Given the description of an element on the screen output the (x, y) to click on. 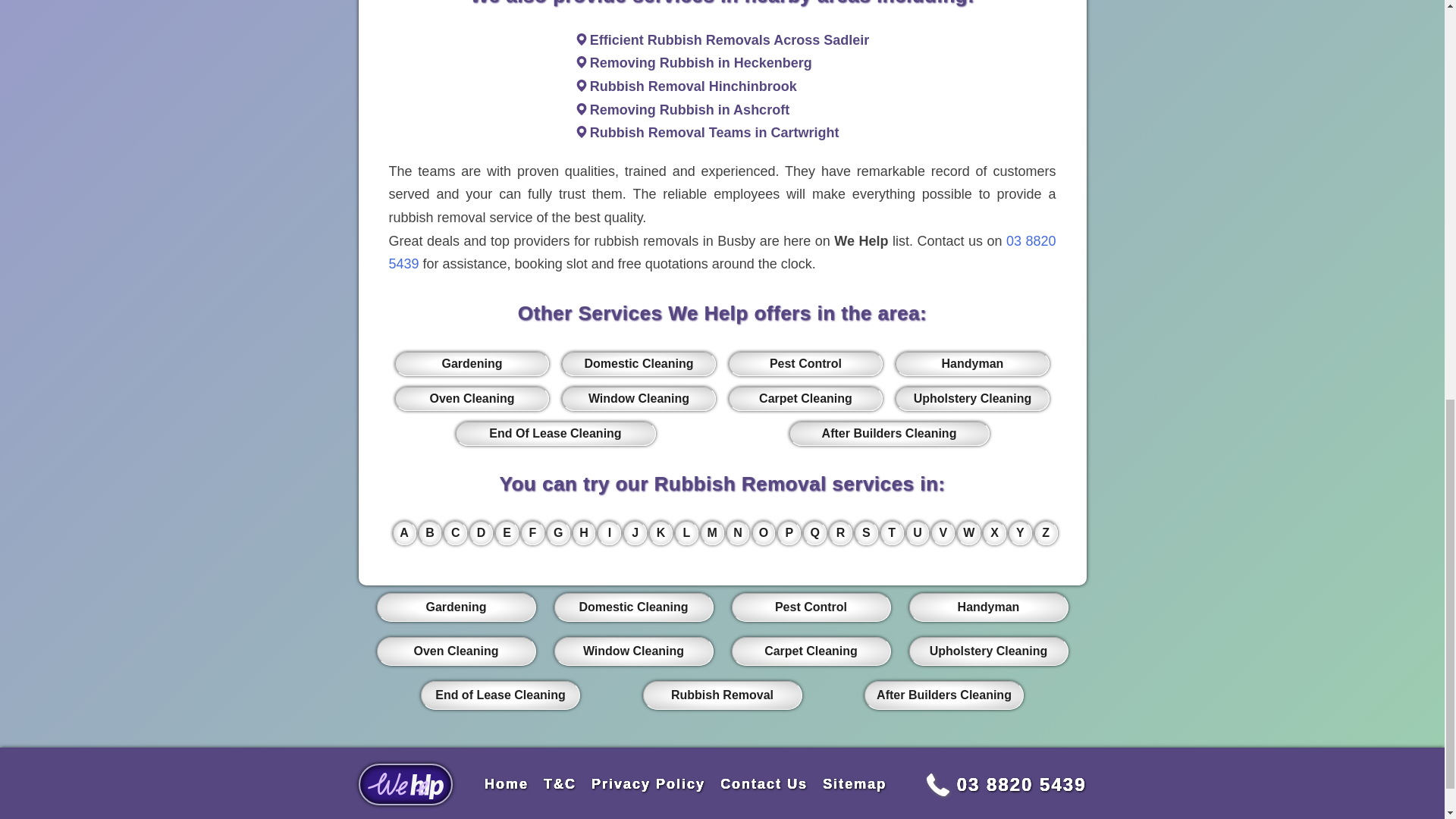
Window Cleaning (638, 398)
Rubbish Removal Hinchinbrook (692, 86)
Handyman (971, 363)
Upholstery Cleaning Busby 2168 (971, 398)
Upholstery Cleaning (971, 398)
Oven Cleaning (471, 398)
Carpet Cleaning Busby 2168 (805, 398)
Domestic Cleaning (638, 363)
Rubbish Removal Teams in Cartwright (714, 132)
Removing Rubbish in Ashcroft (689, 109)
After Builders Cleaning Busby 2168 (888, 433)
03 8820 5439 (721, 252)
End Of Lease Cleaning Busby 2168 (554, 433)
End Of Lease Cleaning (554, 433)
After Builders Cleaning (888, 433)
